Given the description of an element on the screen output the (x, y) to click on. 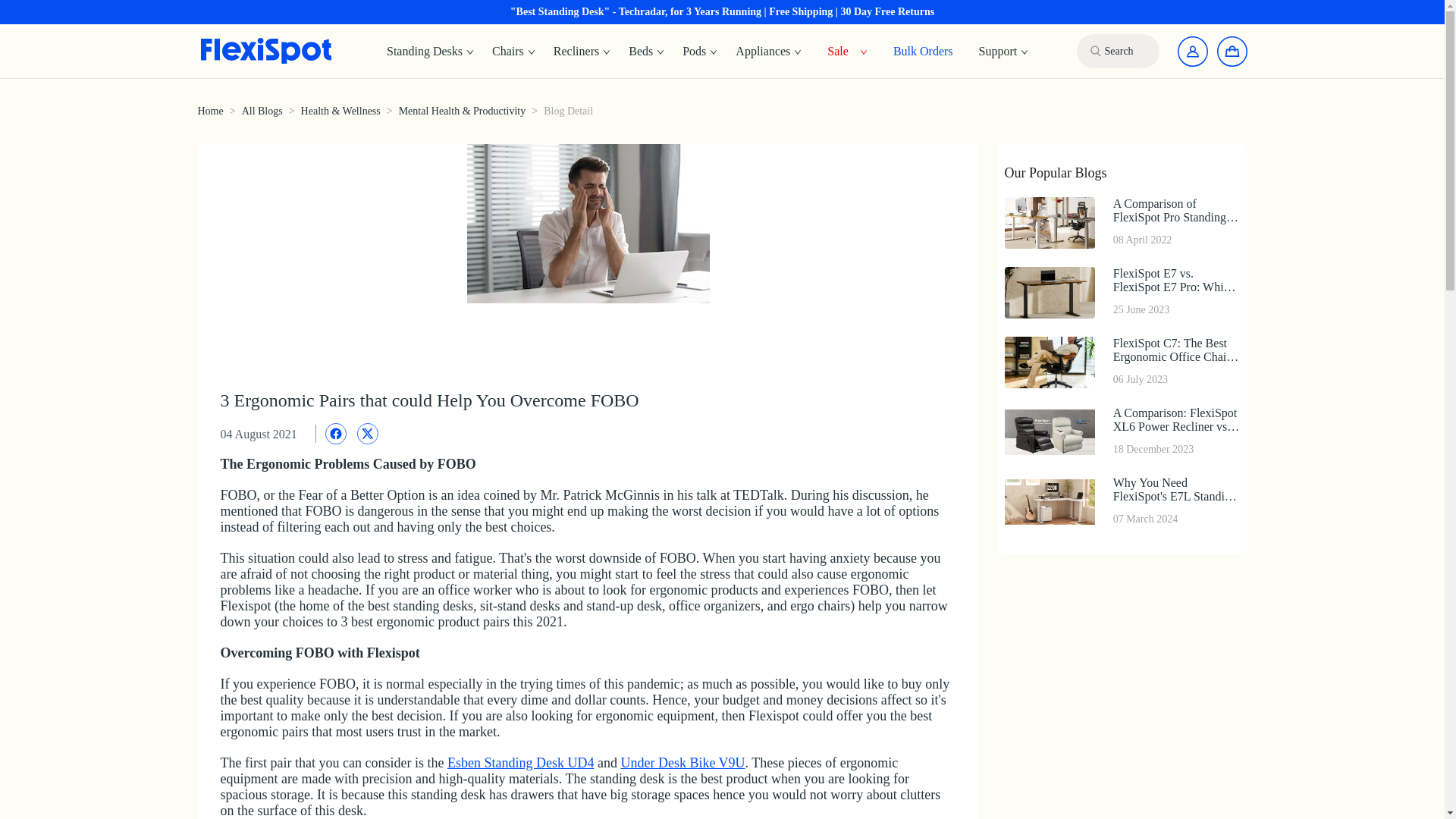
Chairs (513, 51)
Beds (646, 51)
Appliances (768, 51)
Esben Standing Desk UD4 (520, 762)
Pods (700, 51)
Standing Desks (429, 51)
Sale (837, 50)
All Blogs (261, 111)
Home (209, 111)
Bulk Orders (922, 50)
Under Desk Bike V9U (682, 762)
Recliners (581, 51)
